Given the description of an element on the screen output the (x, y) to click on. 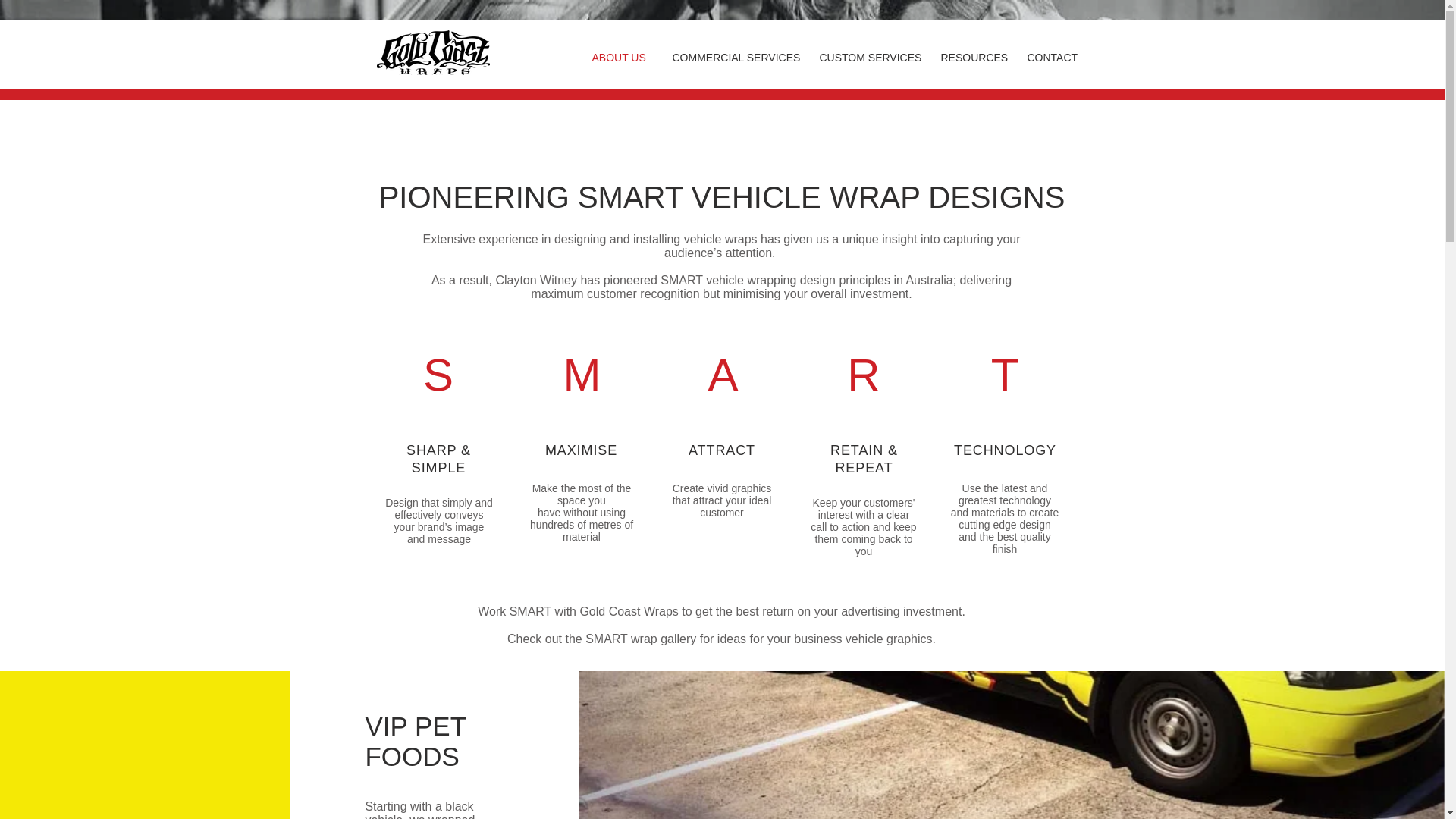
RESOURCES (973, 57)
CUSTOM SERVICES (869, 57)
COMMERCIAL SERVICES (734, 57)
CONTACT (1054, 57)
ABOUT US (620, 57)
